Given the description of an element on the screen output the (x, y) to click on. 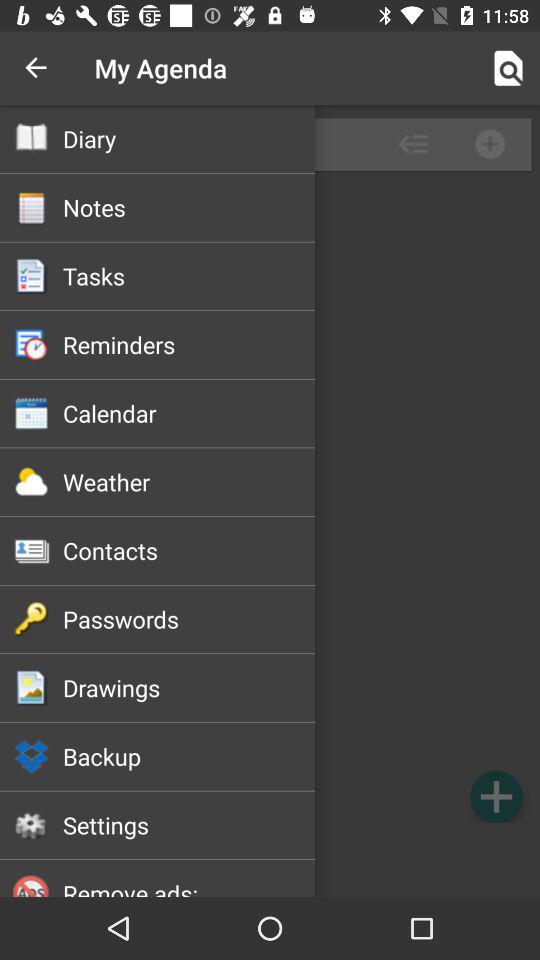
access more planner features (269, 501)
